Given the description of an element on the screen output the (x, y) to click on. 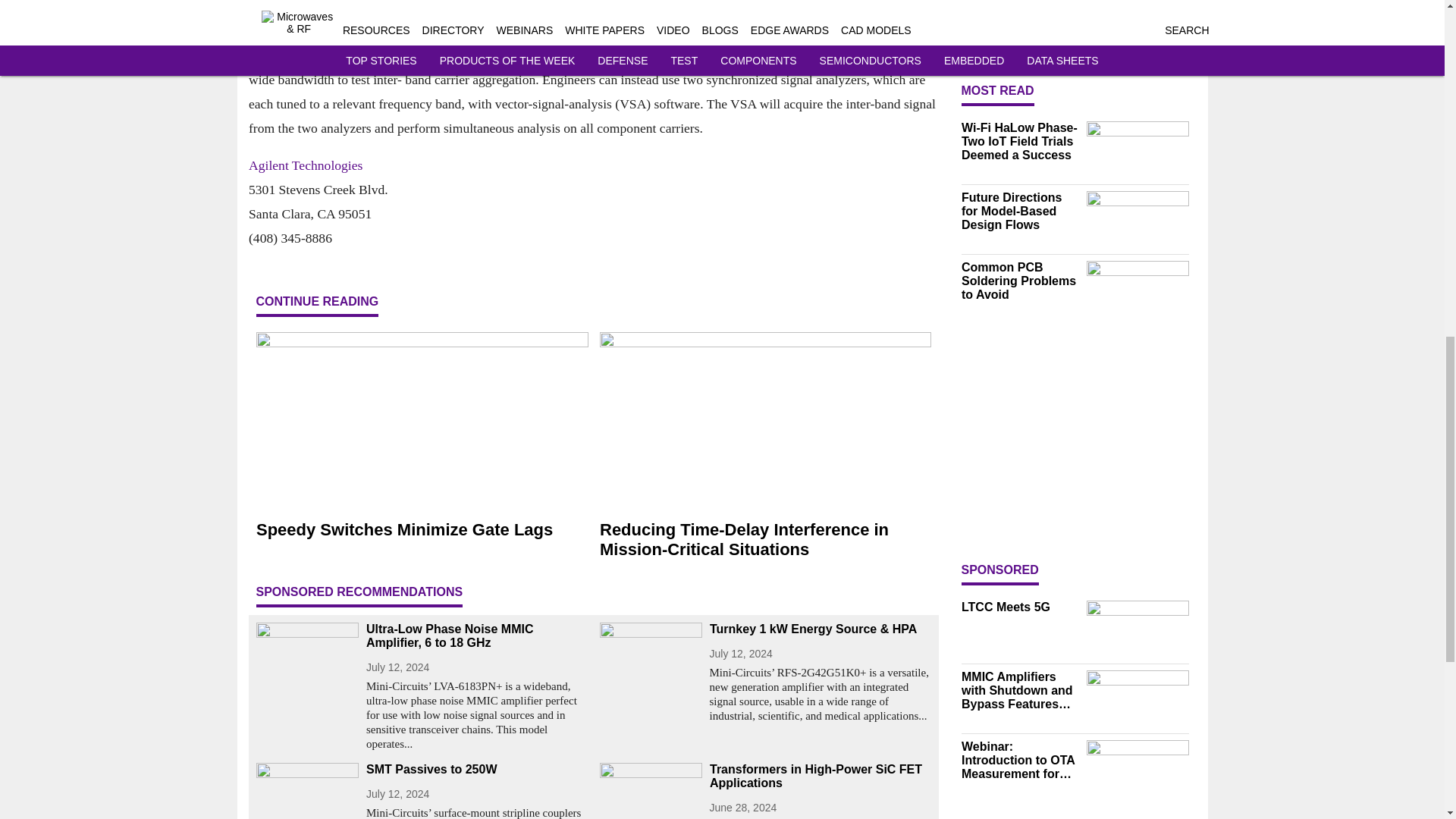
SMT Passives to 250W (476, 769)
Ultra-Low Phase Noise MMIC Amplifier, 6 to 18 GHz (476, 636)
Agilent Technologies (305, 165)
Speedy Switches Minimize Gate Lags (422, 529)
